Given the description of an element on the screen output the (x, y) to click on. 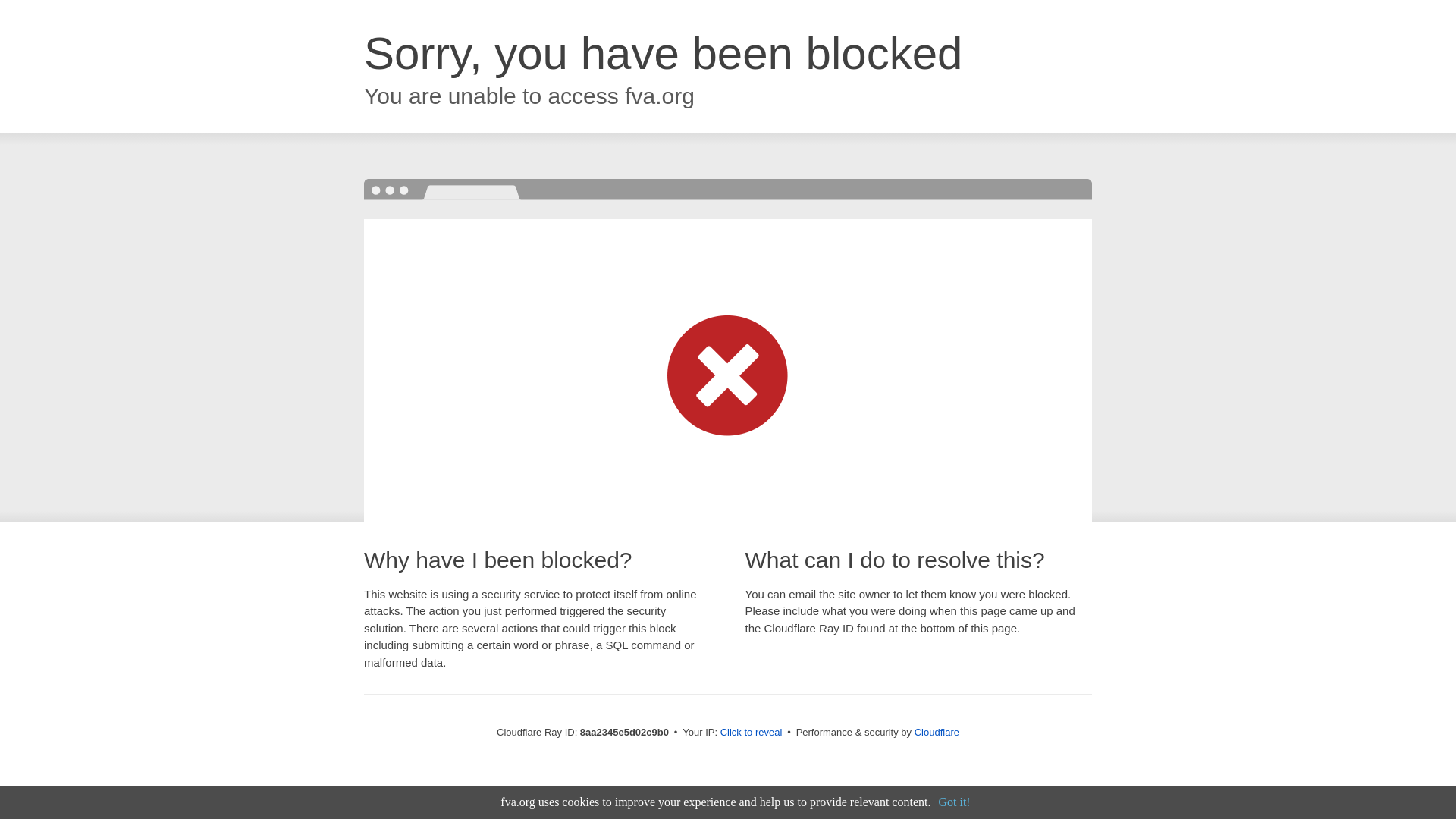
Cloudflare (936, 731)
Click to reveal (751, 732)
